Given the description of an element on the screen output the (x, y) to click on. 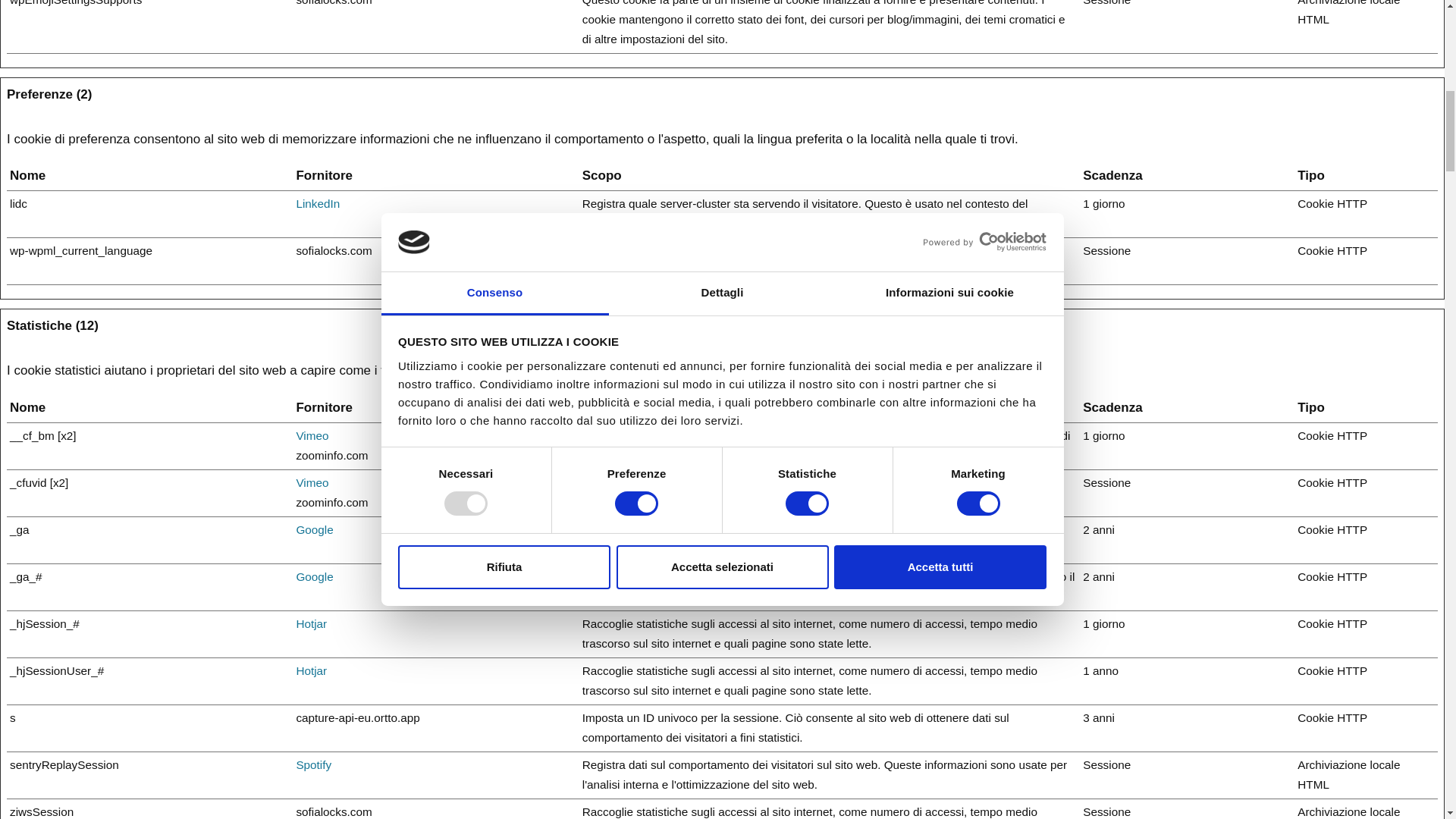
l'informativa sulla privacy di Hotjar (310, 670)
Hotjar (310, 670)
Google (314, 576)
Vimeo (312, 435)
l'informativa sulla privacy di Google (314, 576)
LinkedIn (317, 203)
Spotify (313, 764)
l'informativa sulla privacy di Vimeo (312, 435)
Vimeo (312, 481)
l'informativa sulla privacy di Spotify (313, 764)
